Given the description of an element on the screen output the (x, y) to click on. 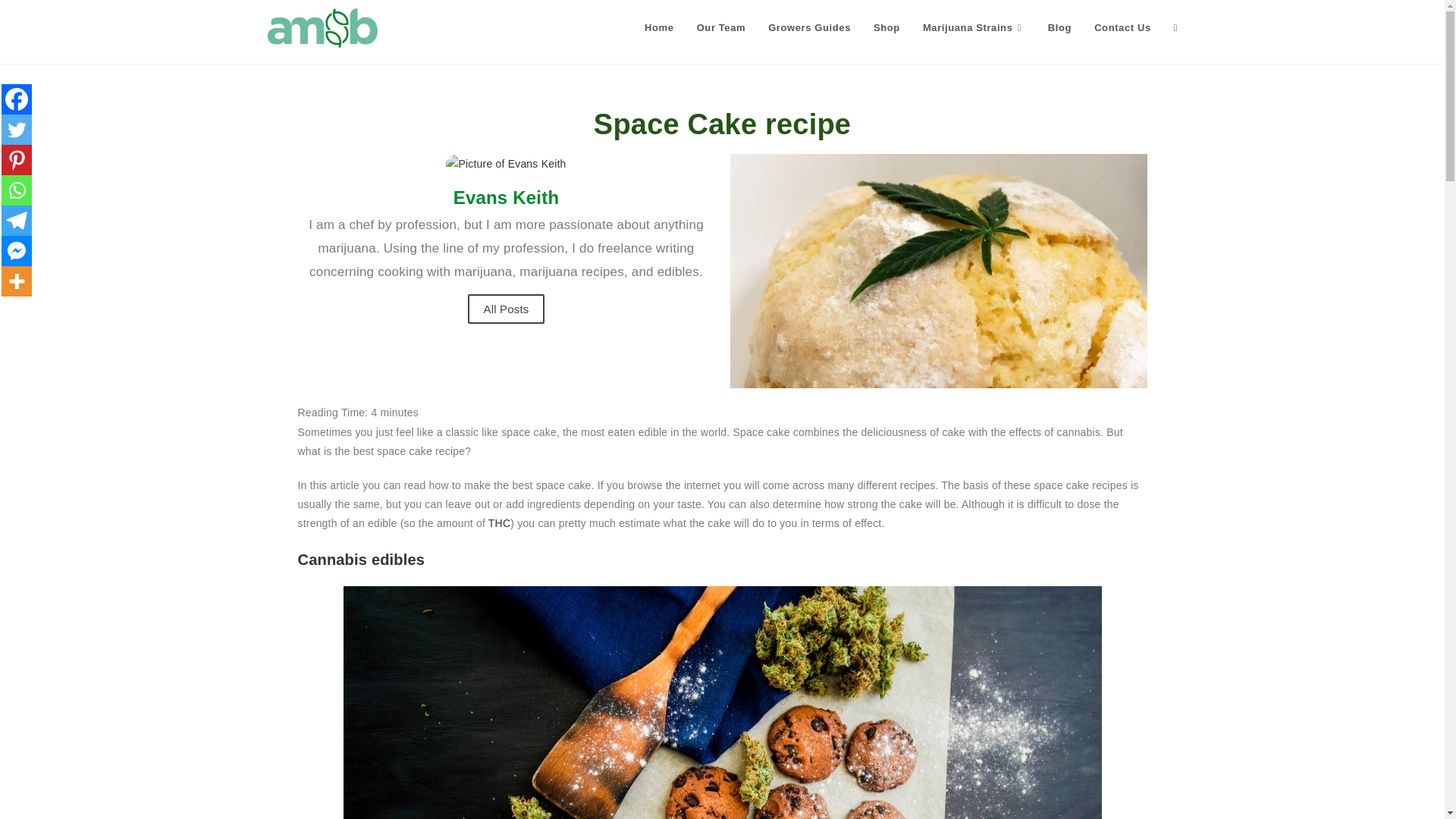
Marijuana Strains (973, 28)
Home (659, 28)
All Posts (505, 308)
Twitter (16, 129)
Telegram (16, 220)
Growers Guides (809, 28)
Facebook (16, 99)
Pinterest (16, 159)
More (16, 281)
Contact Us (1122, 28)
